Given the description of an element on the screen output the (x, y) to click on. 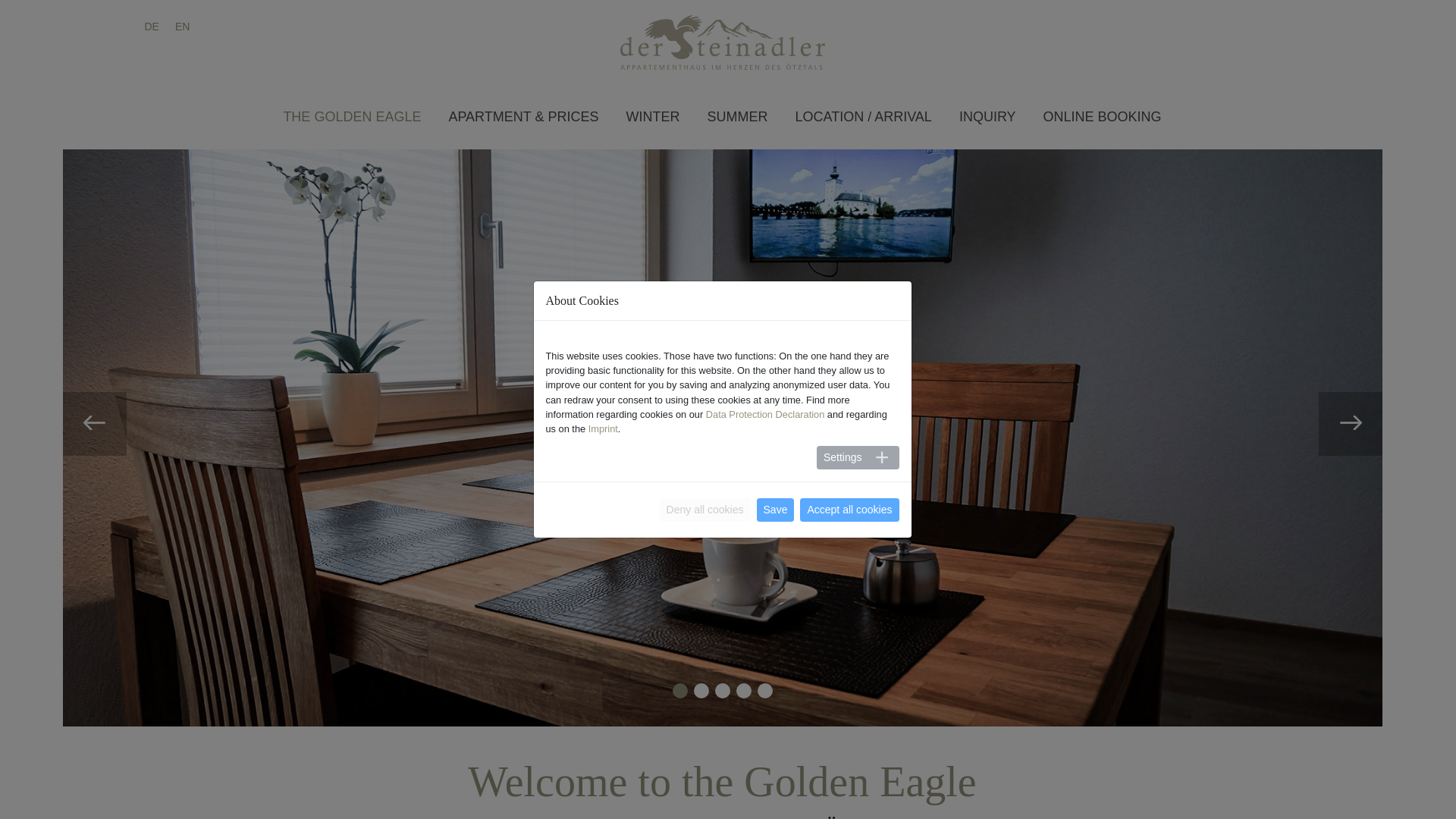
THE GOLDEN EAGLE (351, 116)
SUMMER (736, 116)
INQUIRY (986, 116)
DE (151, 26)
ONLINE BOOKING (1101, 116)
EN (181, 26)
WINTER (652, 116)
